Given the description of an element on the screen output the (x, y) to click on. 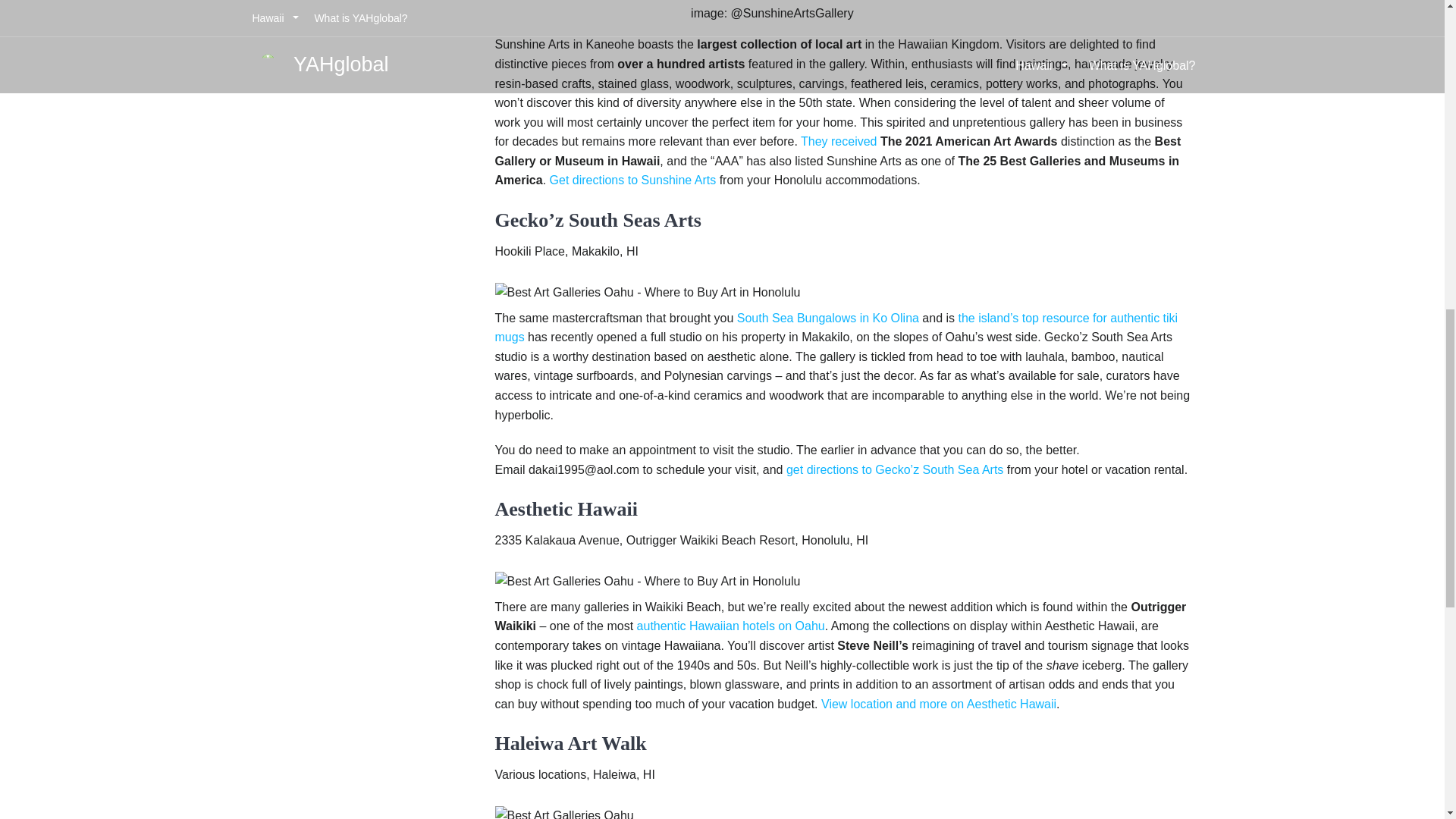
Get directions to Sunshine Arts (633, 179)
View location and more on Aesthetic Hawaii (939, 703)
They received (838, 141)
South Sea Bungalows in Ko Olina (827, 318)
authentic Hawaiian hotels on Oahu (731, 625)
